Given the description of an element on the screen output the (x, y) to click on. 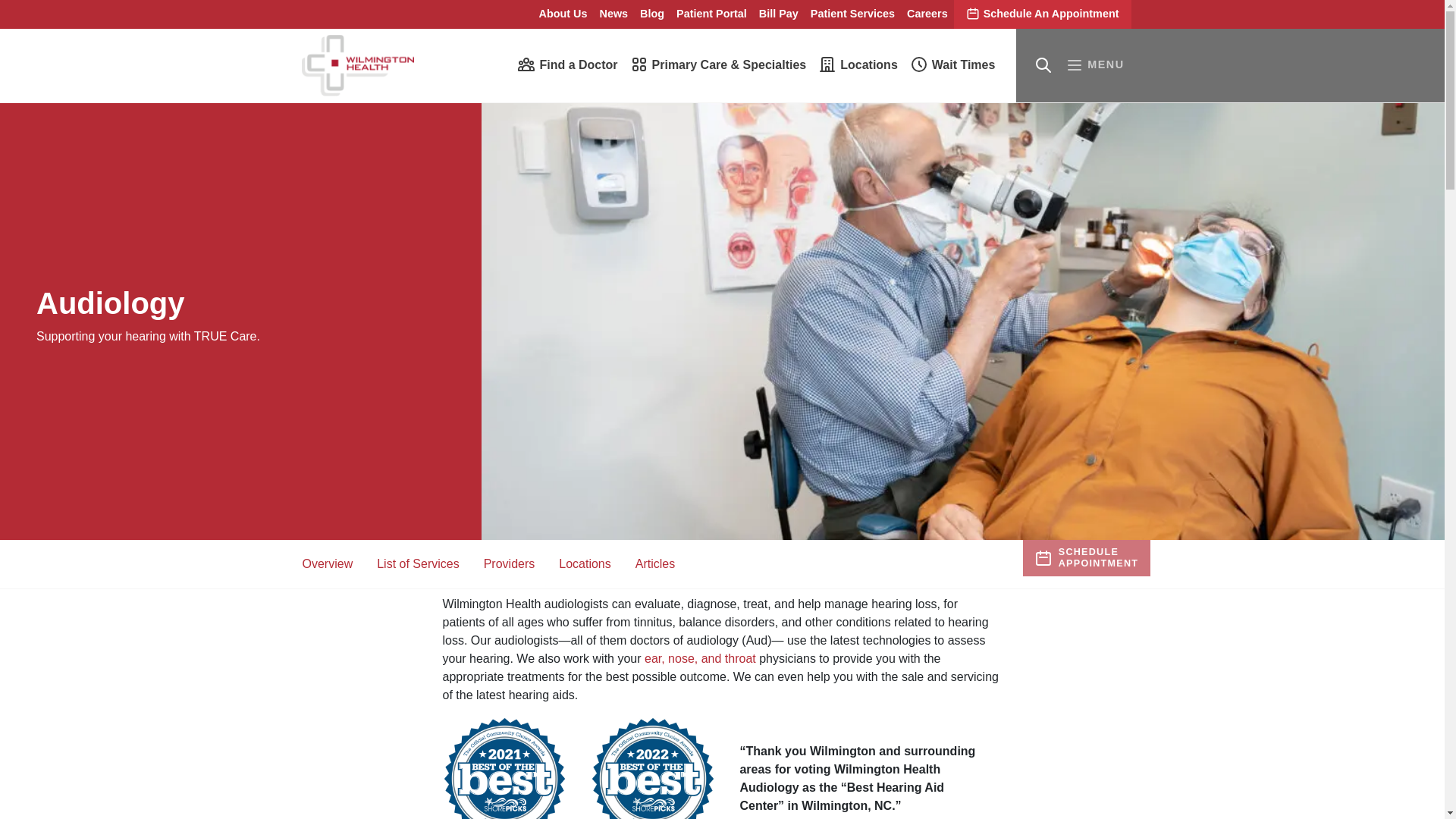
Blog (651, 14)
Locations (858, 64)
Find a Doctor (567, 64)
Locations (858, 64)
Toggle Search Bar (1042, 65)
Blog (651, 14)
News (614, 14)
Find a Doctor (567, 64)
Patient Services (853, 14)
Wait Times (952, 64)
Patient Portal (710, 14)
Wait Times (952, 64)
Schedule An Appointment (1042, 14)
News (614, 14)
Bill Pay (778, 14)
